Given the description of an element on the screen output the (x, y) to click on. 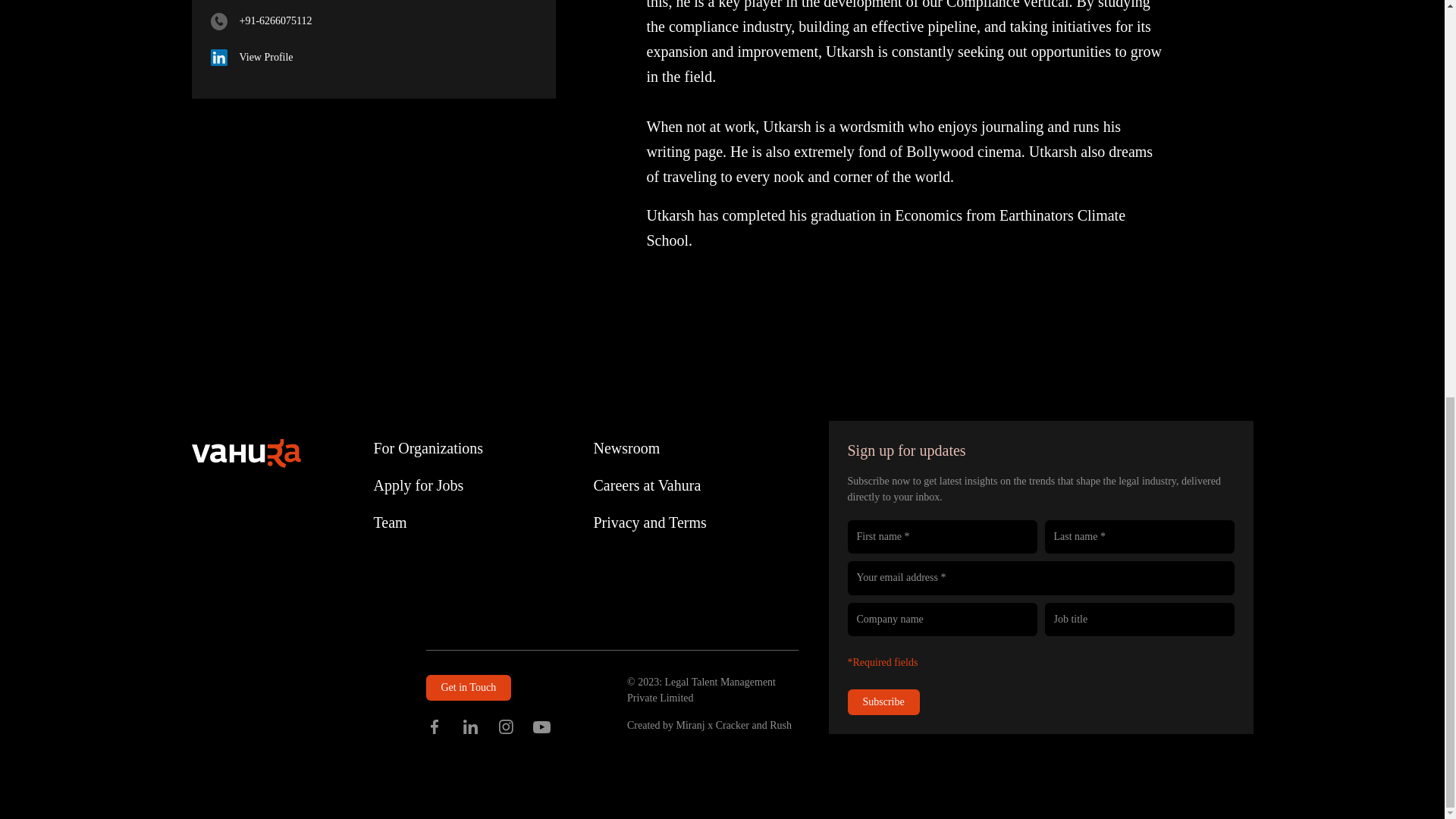
Instagram (506, 726)
Linkedin (470, 726)
Vahura Home Page (244, 452)
Facebook (435, 726)
Youtube (541, 726)
